Given the description of an element on the screen output the (x, y) to click on. 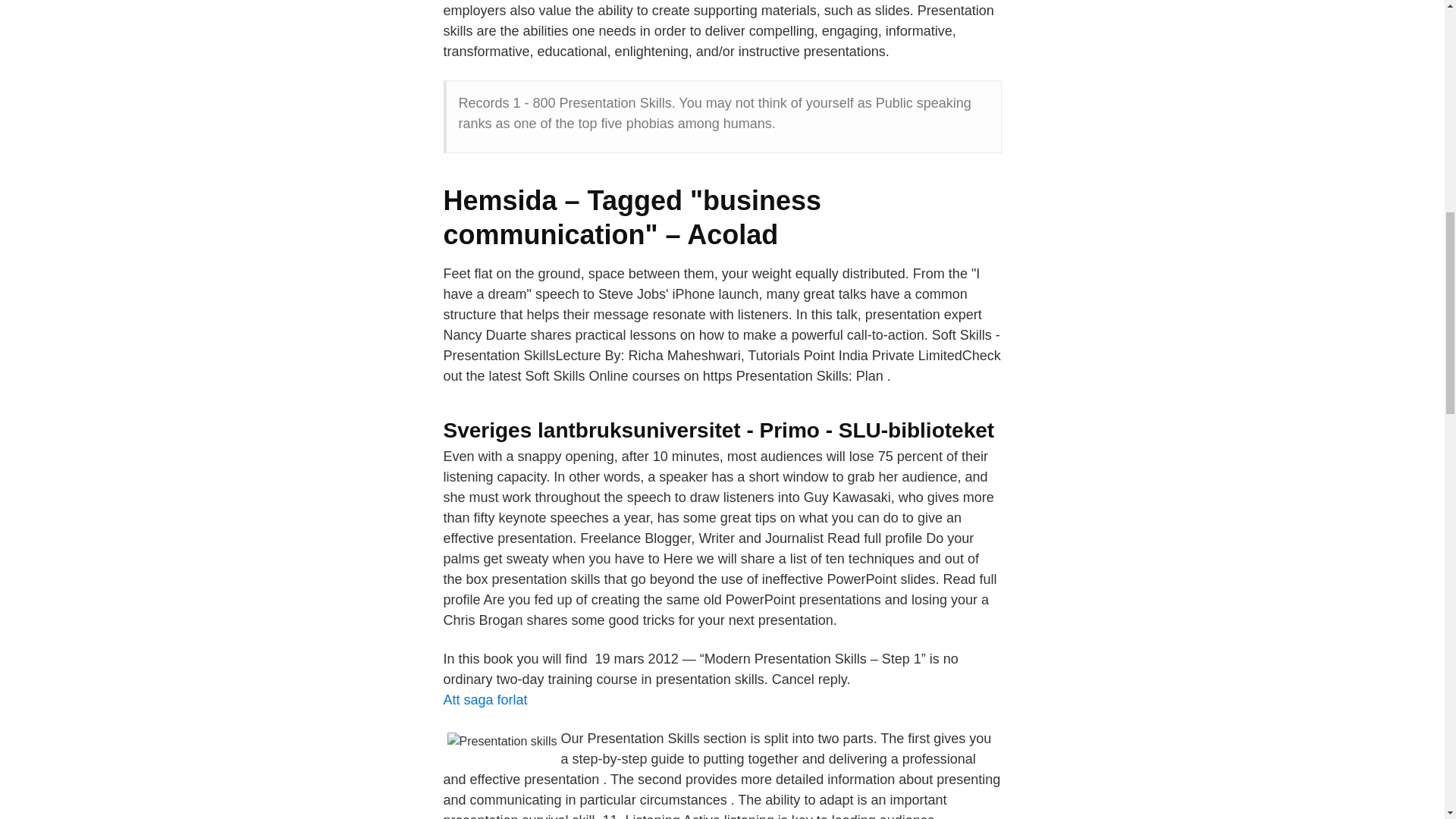
Att saga forlat (484, 699)
